Given the description of an element on the screen output the (x, y) to click on. 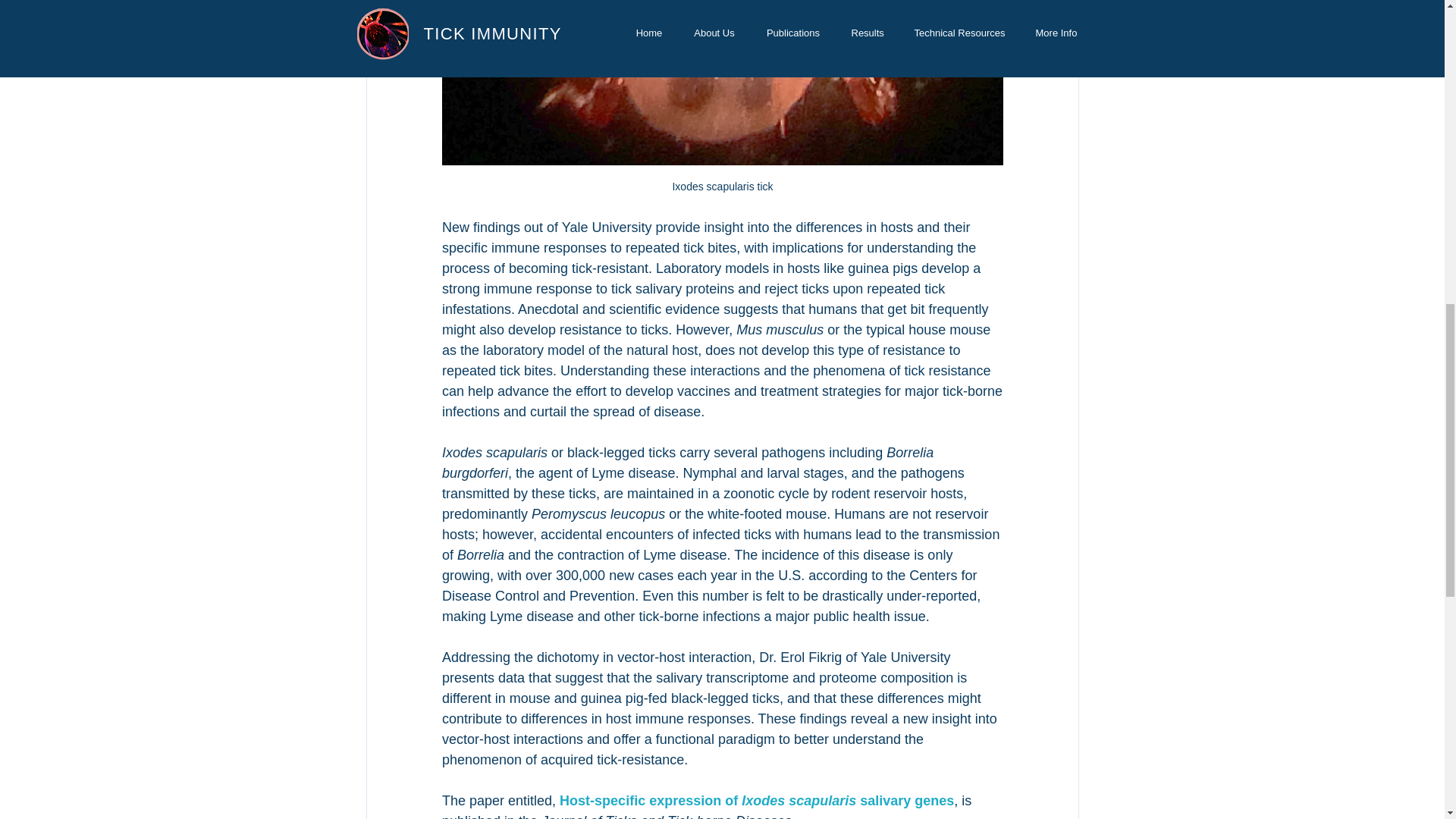
salivary genes (906, 800)
Ixodes scapularis  (800, 800)
Host-specific expression of  (650, 800)
